Given the description of an element on the screen output the (x, y) to click on. 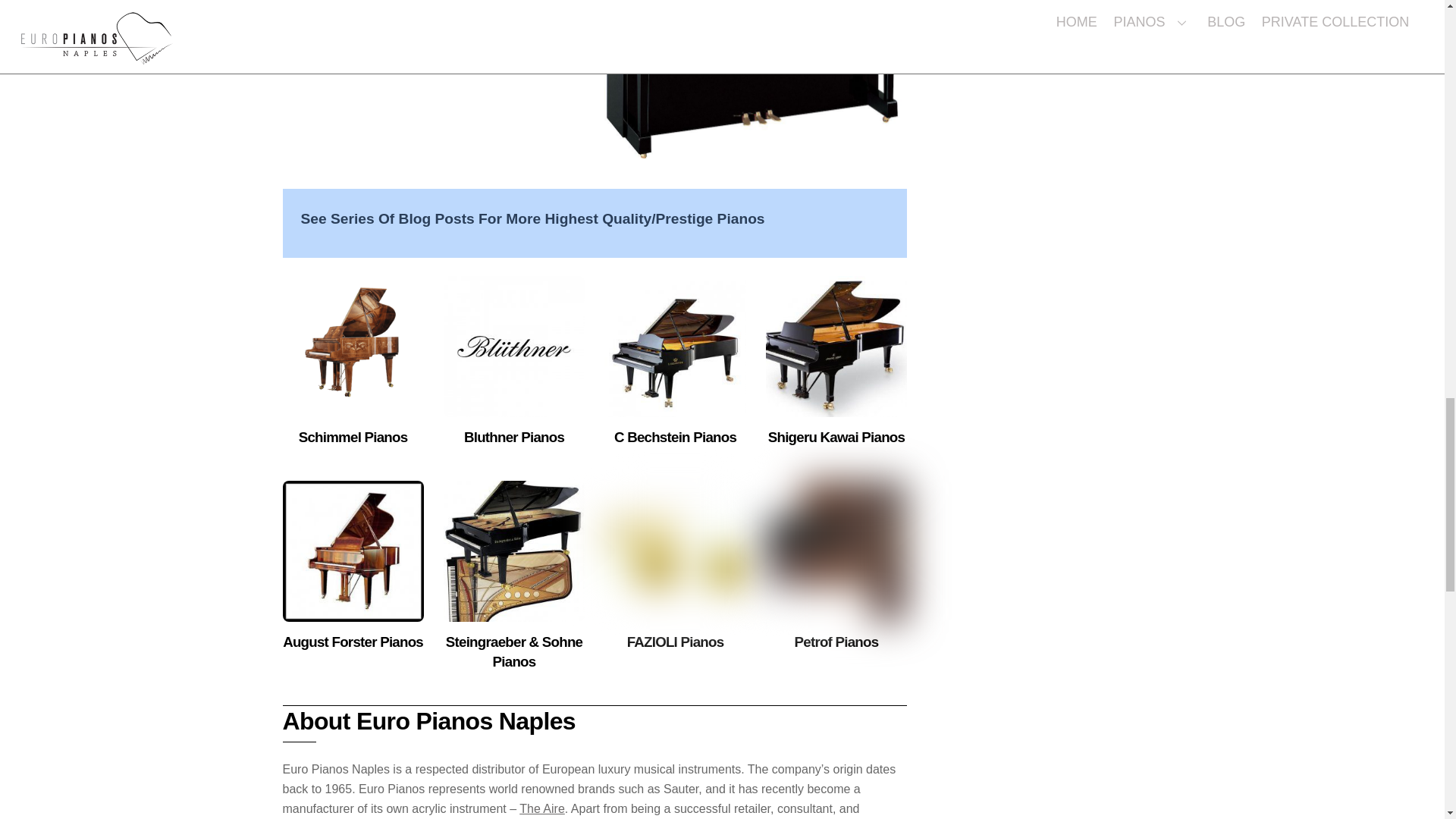
Bluthner Pianos (514, 437)
Shigeru Kawai Piano (836, 346)
Schimmel Pianos (352, 437)
Shigeru Kawai Pianos (836, 437)
Bluthner piano logo (514, 346)
C. Bechstein D 282 (674, 346)
Petrof Pianos (836, 641)
FAZIOLI Pianos (675, 641)
C Bechstein Pianos (675, 437)
August Forster Piano (352, 550)
Petrof designer upright piano (836, 550)
August Forster Pianos (352, 641)
Fazioli piano logo (674, 550)
The Aire (541, 808)
Yamaha Pianos (755, 79)
